Given the description of an element on the screen output the (x, y) to click on. 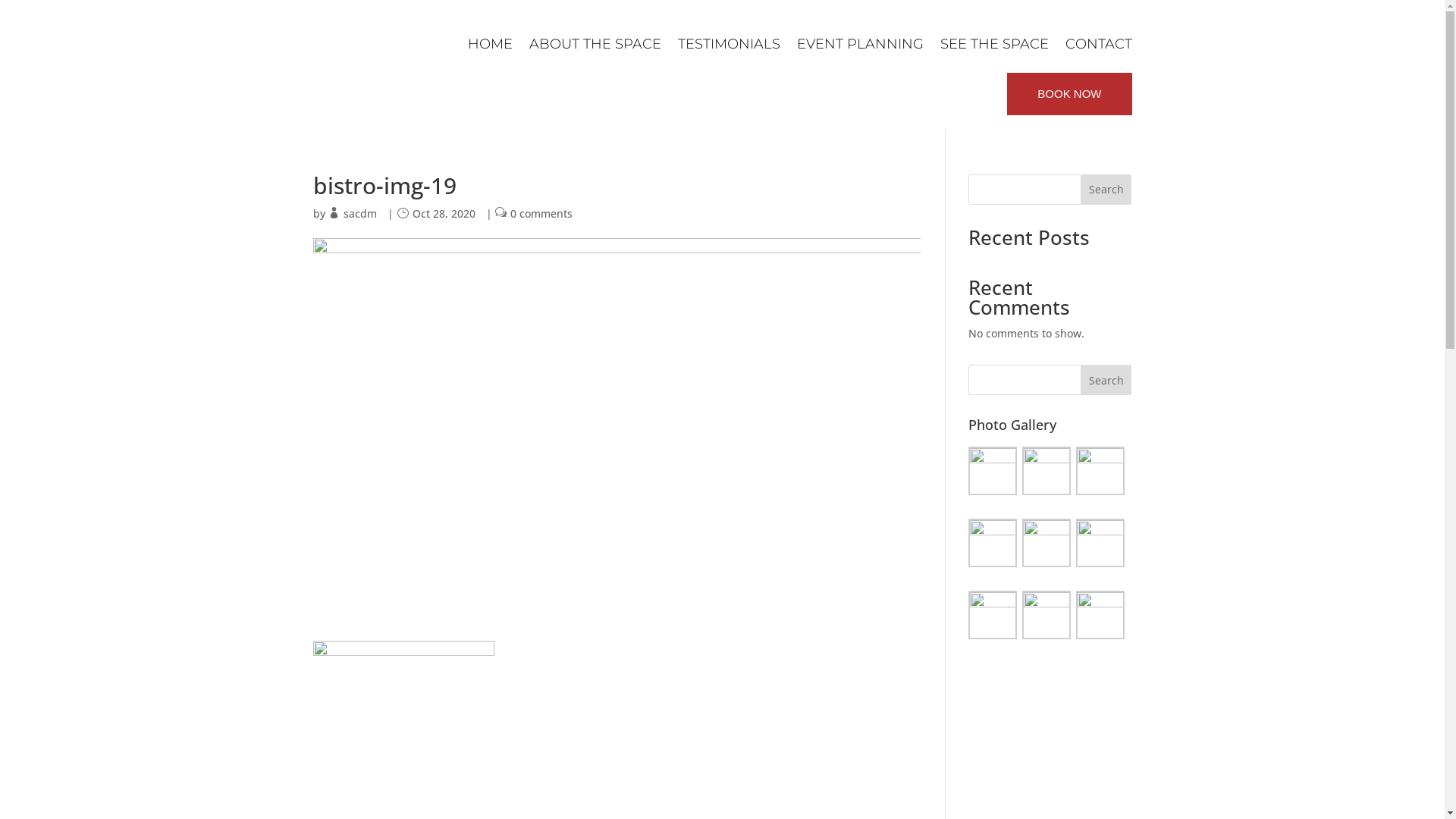
SEE THE SPACE Element type: text (994, 43)
TESTIMONIALS Element type: text (728, 43)
Search Element type: text (1106, 189)
Search Element type: text (1106, 379)
HOME Element type: text (489, 43)
ABOUT THE SPACE Element type: text (595, 43)
EVENT PLANNING Element type: text (859, 43)
0 comments Element type: text (540, 213)
CONTACT Element type: text (1097, 43)
BOOK NOW Element type: text (1069, 93)
sacdm Element type: text (359, 213)
